Given the description of an element on the screen output the (x, y) to click on. 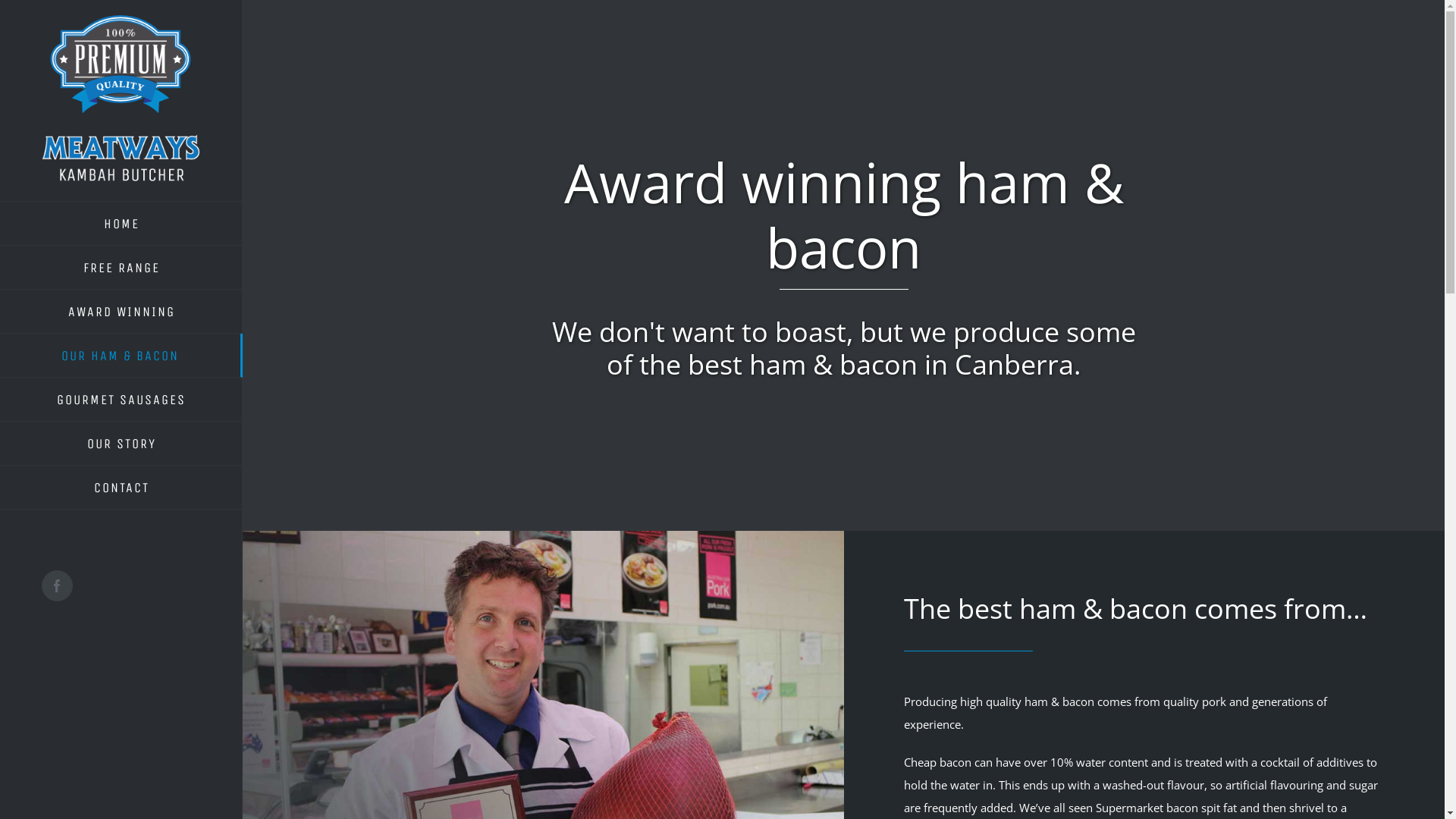
CONTACT Element type: text (121, 487)
AWARD WINNING Element type: text (121, 311)
GOURMET SAUSAGES Element type: text (121, 399)
HOME Element type: text (121, 222)
OUR HAM & BACON Element type: text (121, 355)
OUR STORY Element type: text (121, 443)
Facebook Element type: text (56, 585)
FREE RANGE Element type: text (121, 267)
